Given the description of an element on the screen output the (x, y) to click on. 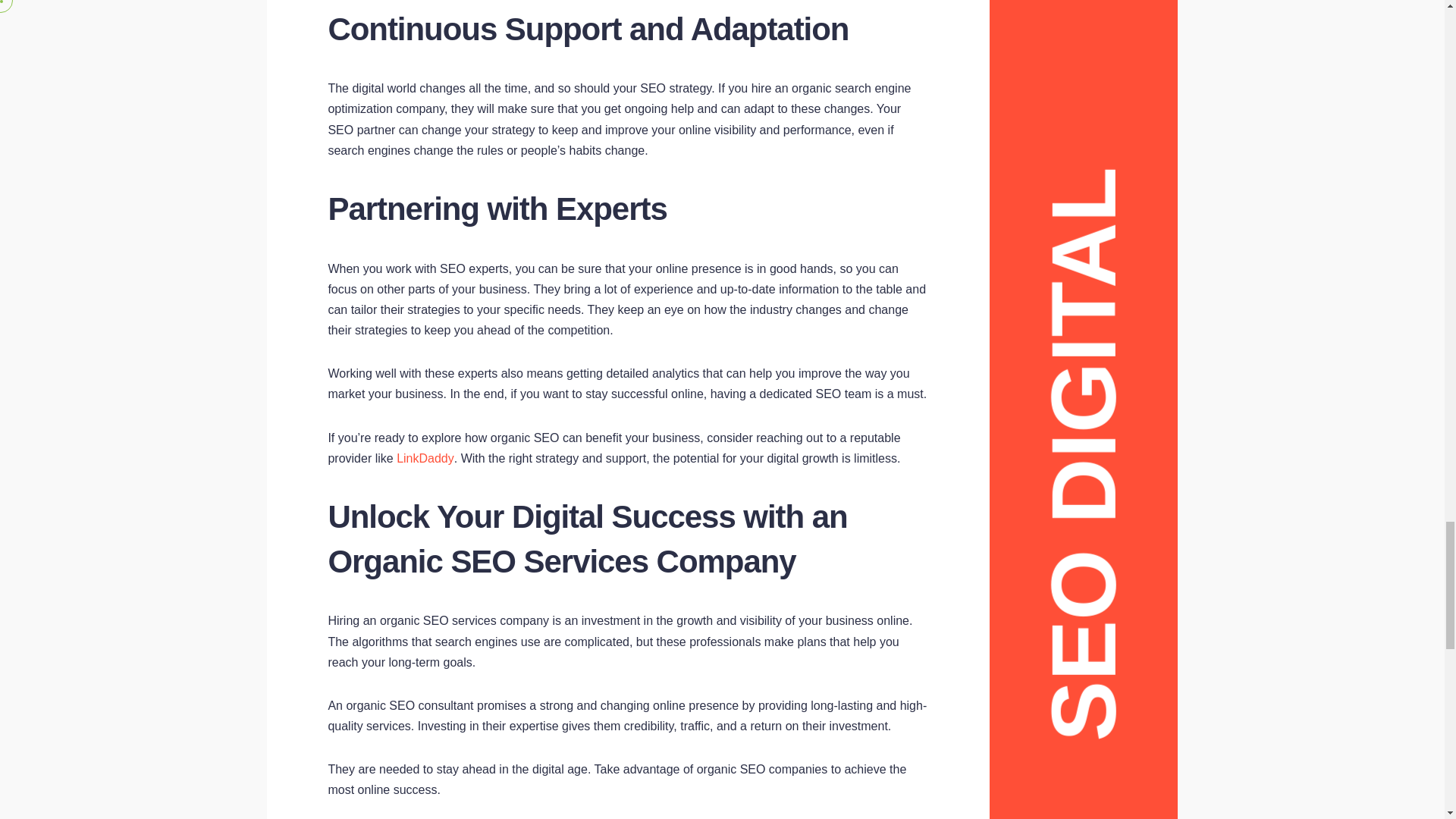
LinkDaddy (425, 458)
